Given the description of an element on the screen output the (x, y) to click on. 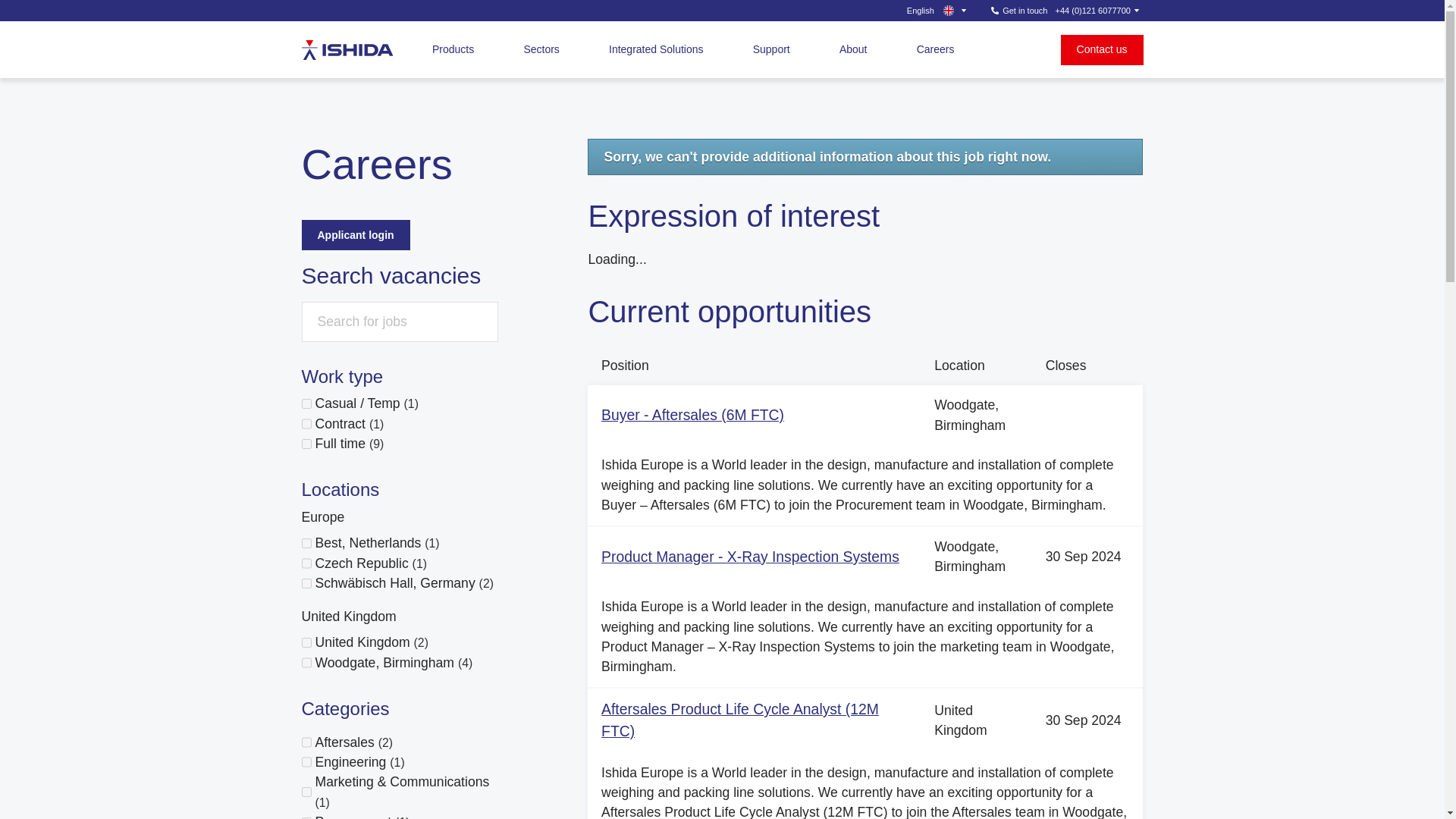
Contact us (1101, 50)
Products (453, 49)
Procurement (306, 817)
